Given the description of an element on the screen output the (x, y) to click on. 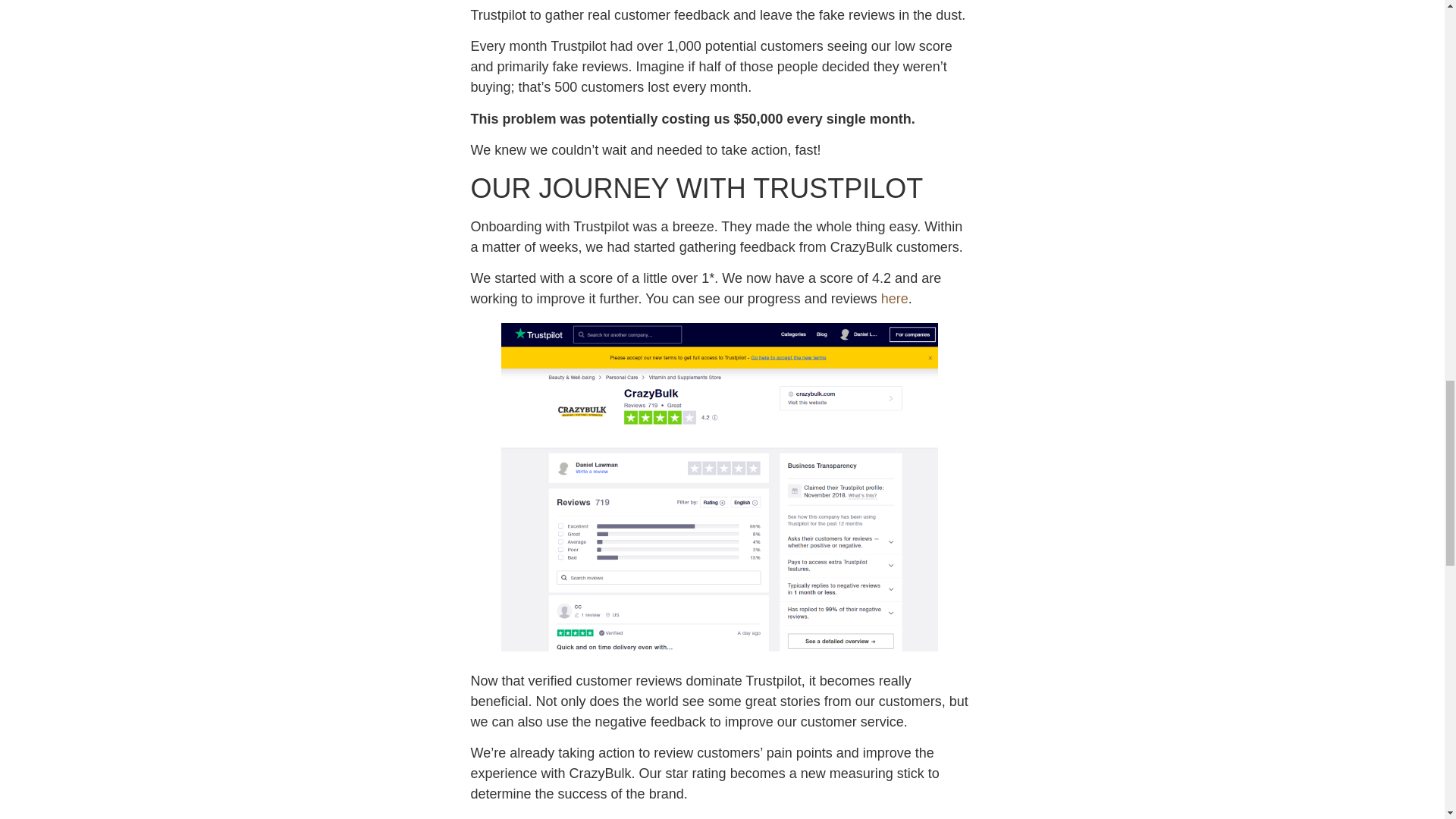
here (894, 298)
